Given the description of an element on the screen output the (x, y) to click on. 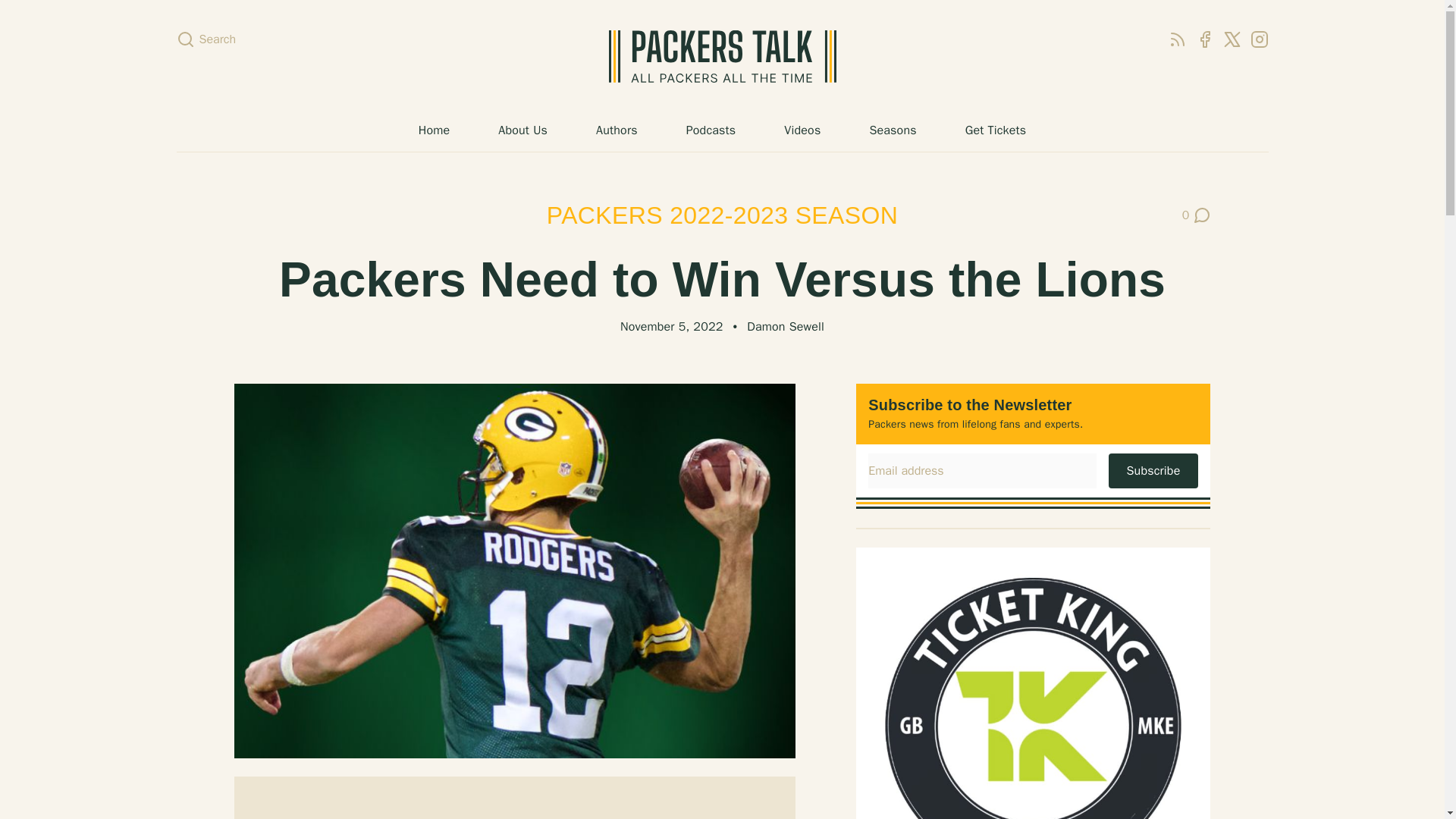
Authors (616, 129)
PACKERS 2022-2023 SEASON (722, 215)
Subscribe (1153, 470)
Search (205, 39)
PackersTalk.com Blog Posts and Podcasts (722, 56)
PackersTalk on Instagram (1258, 39)
Instagram (1258, 39)
Subscribe (1153, 470)
Videos (802, 129)
PackersTalk RSS Feed (1176, 39)
Damon Sewell (785, 326)
Facebook (1203, 39)
Seasons (892, 129)
Podcasts (710, 129)
Get Tickets (995, 129)
